Given the description of an element on the screen output the (x, y) to click on. 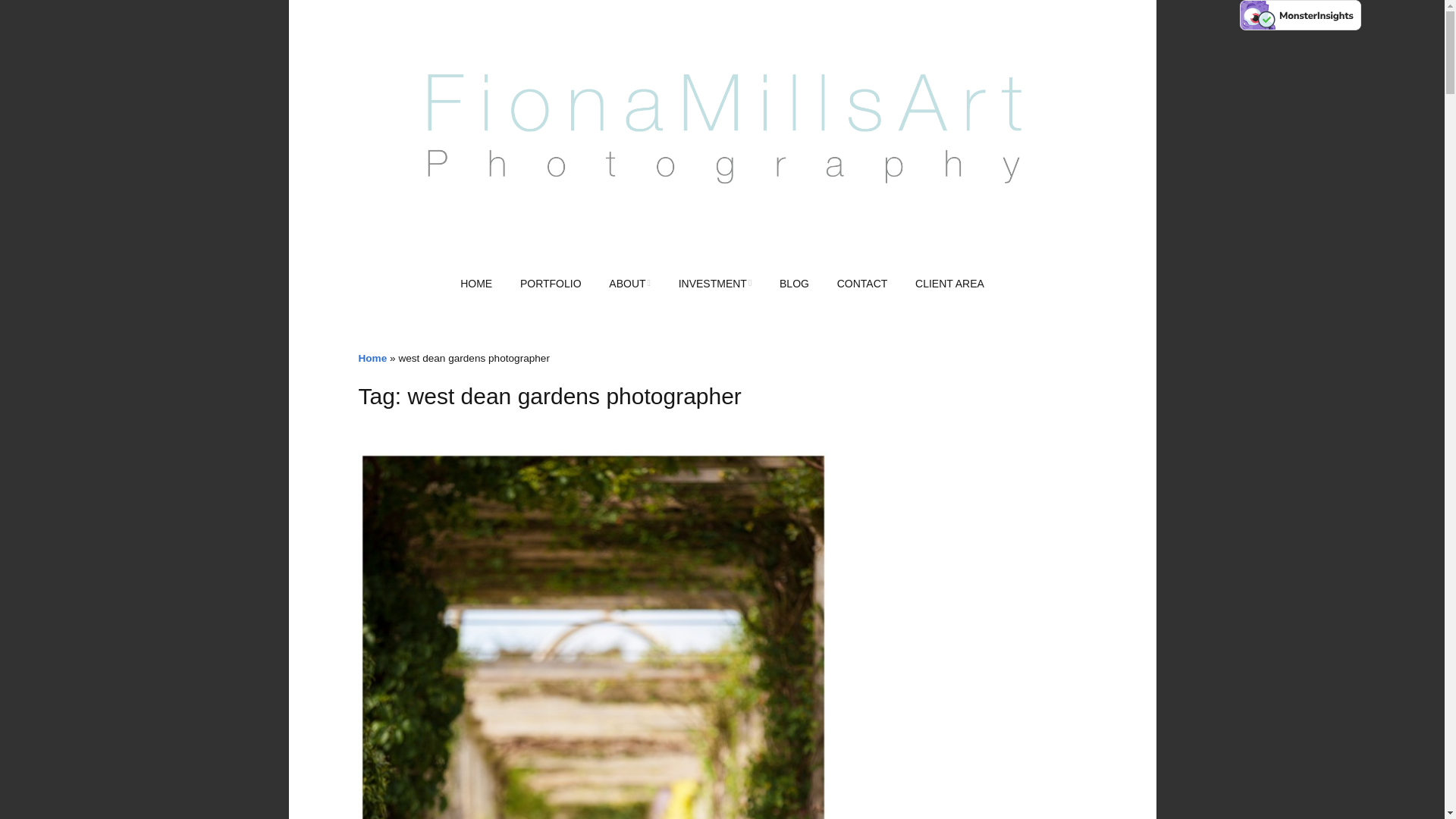
Verified by MonsterInsights (1300, 15)
ABOUT (629, 284)
HOME (475, 284)
PORTFOLIO (551, 284)
CLIENT AREA (948, 284)
BLOG (794, 284)
INVESTMENT (715, 284)
Home (372, 357)
CONTACT (862, 284)
